Given the description of an element on the screen output the (x, y) to click on. 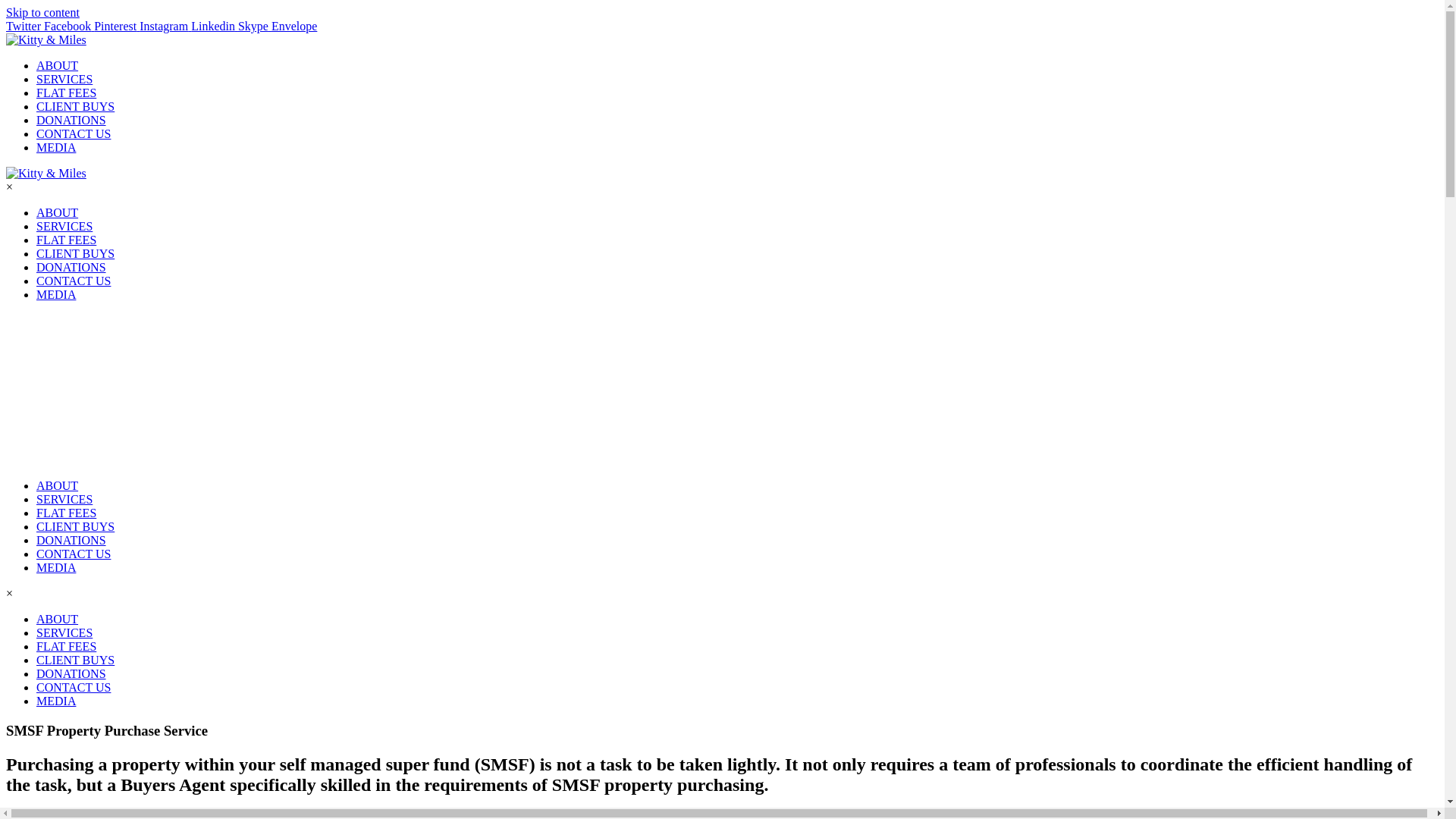
ABOUT Element type: text (57, 618)
CONTACT US Element type: text (1026, 69)
FLAT FEES Element type: text (713, 69)
CLIENT BUYS Element type: text (813, 69)
DONATIONS Element type: text (920, 69)
SERVICES Element type: text (625, 69)
CONTACT US Element type: text (73, 686)
CONTACT US Element type: text (73, 553)
DONATIONS Element type: text (71, 673)
CLIENT BUYS Element type: text (75, 659)
FLAT FEES Element type: text (66, 512)
FLAT FEES Element type: text (66, 646)
SERVICES Element type: text (64, 498)
MEDIA Element type: text (55, 700)
DONATIONS Element type: text (71, 539)
ABOUT Element type: text (549, 69)
CLIENT BUYS Element type: text (75, 526)
MEDIA Element type: text (55, 567)
MEDIA Element type: text (1112, 69)
SERVICES Element type: text (64, 632)
